Given the description of an element on the screen output the (x, y) to click on. 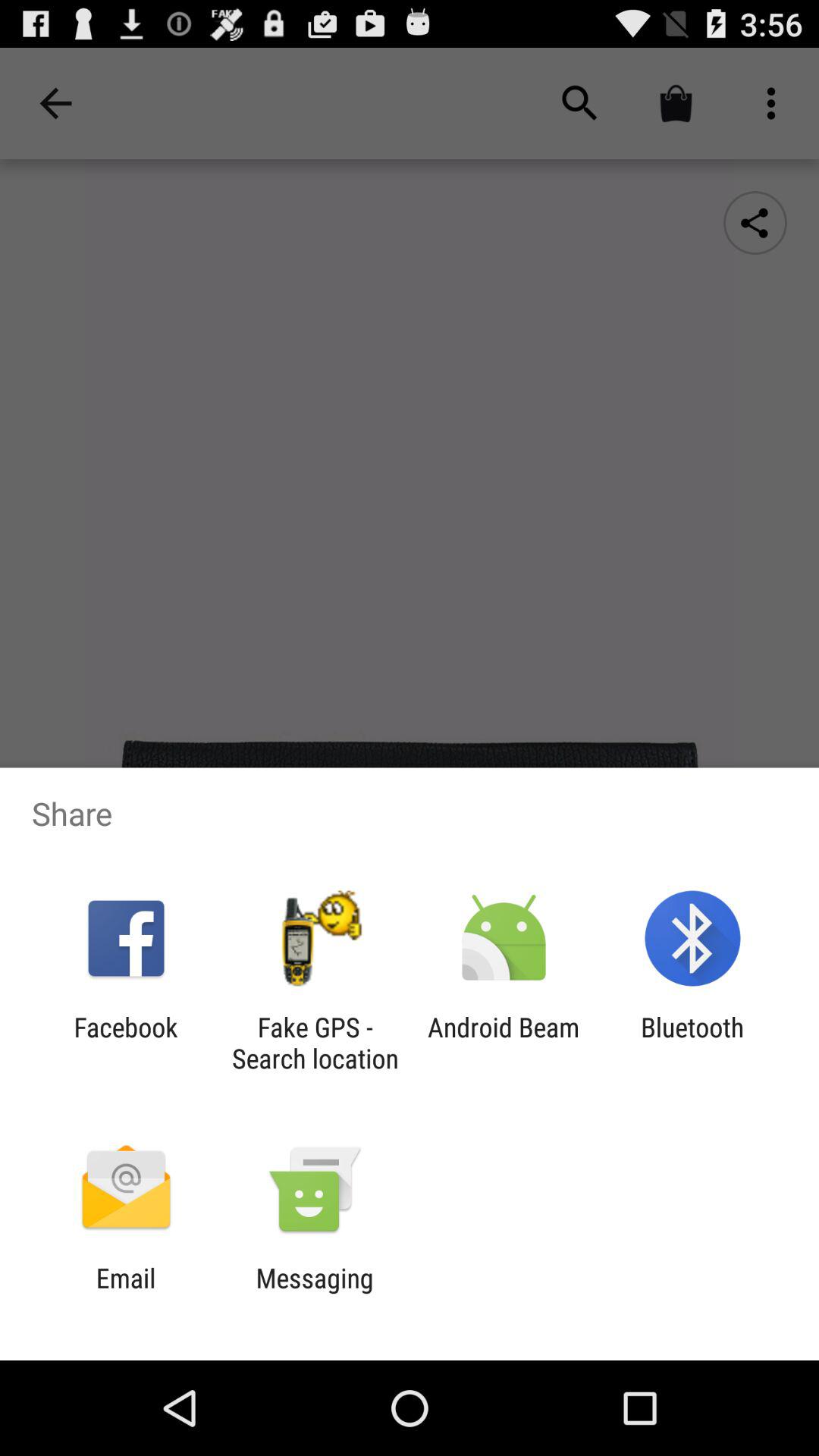
select item to the left of bluetooth item (503, 1042)
